Given the description of an element on the screen output the (x, y) to click on. 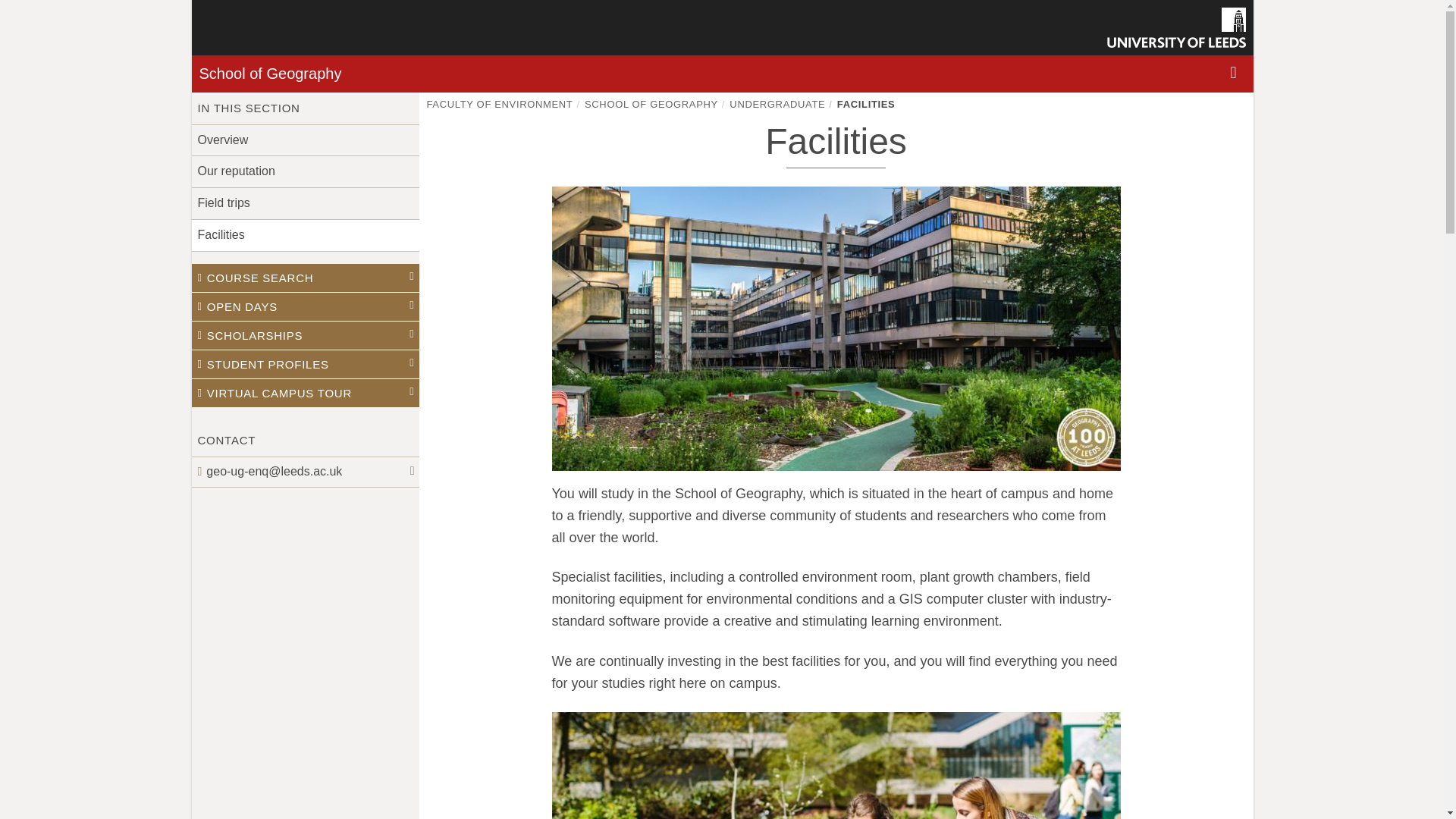
School of Geography (269, 73)
University of Leeds homepage (1176, 27)
